Given the description of an element on the screen output the (x, y) to click on. 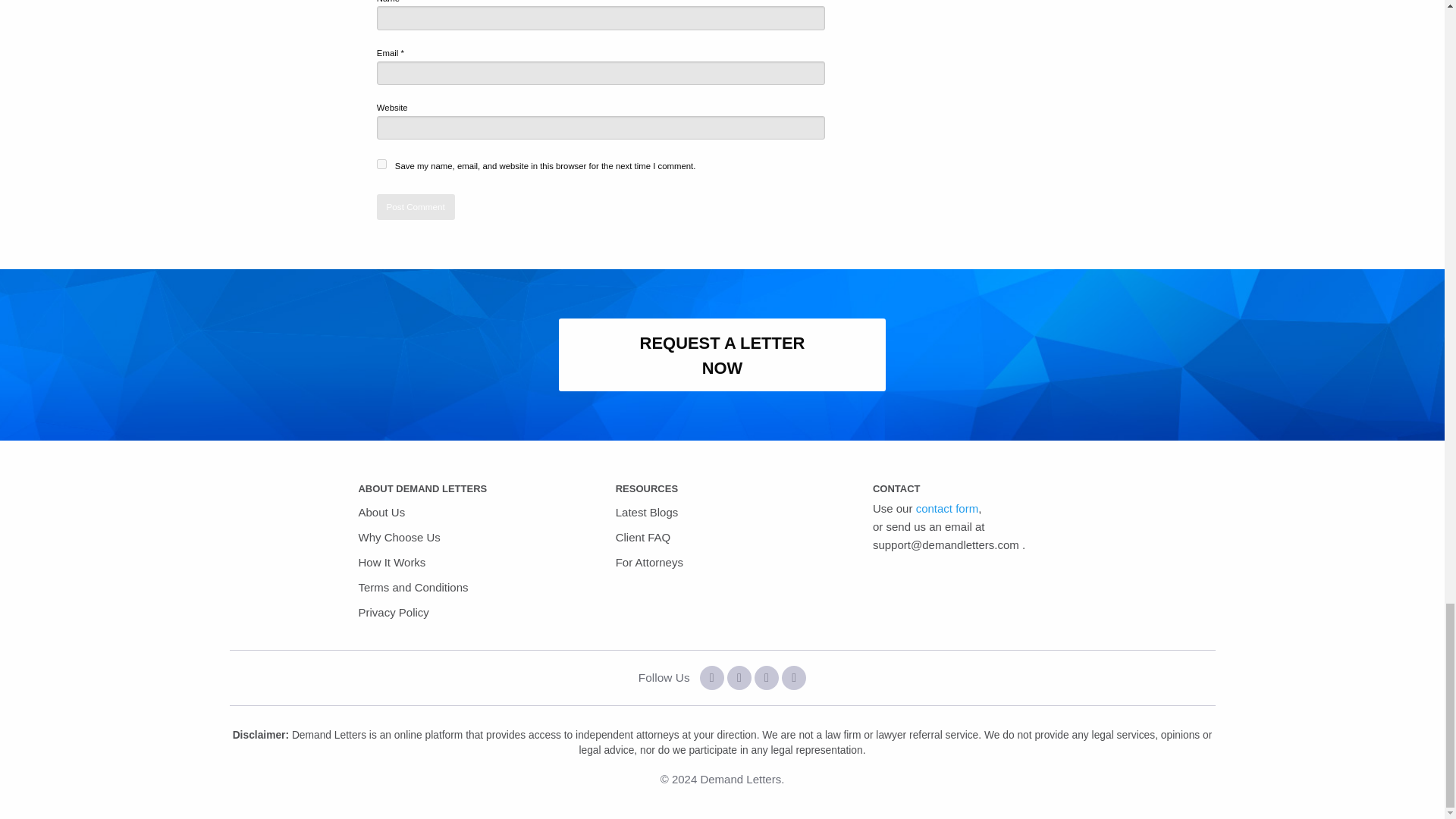
LinkedIn (793, 677)
yes (382, 163)
Twitter (738, 677)
Instagram (766, 677)
Post Comment (415, 207)
Facebook (711, 677)
Post Comment (415, 207)
